Given the description of an element on the screen output the (x, y) to click on. 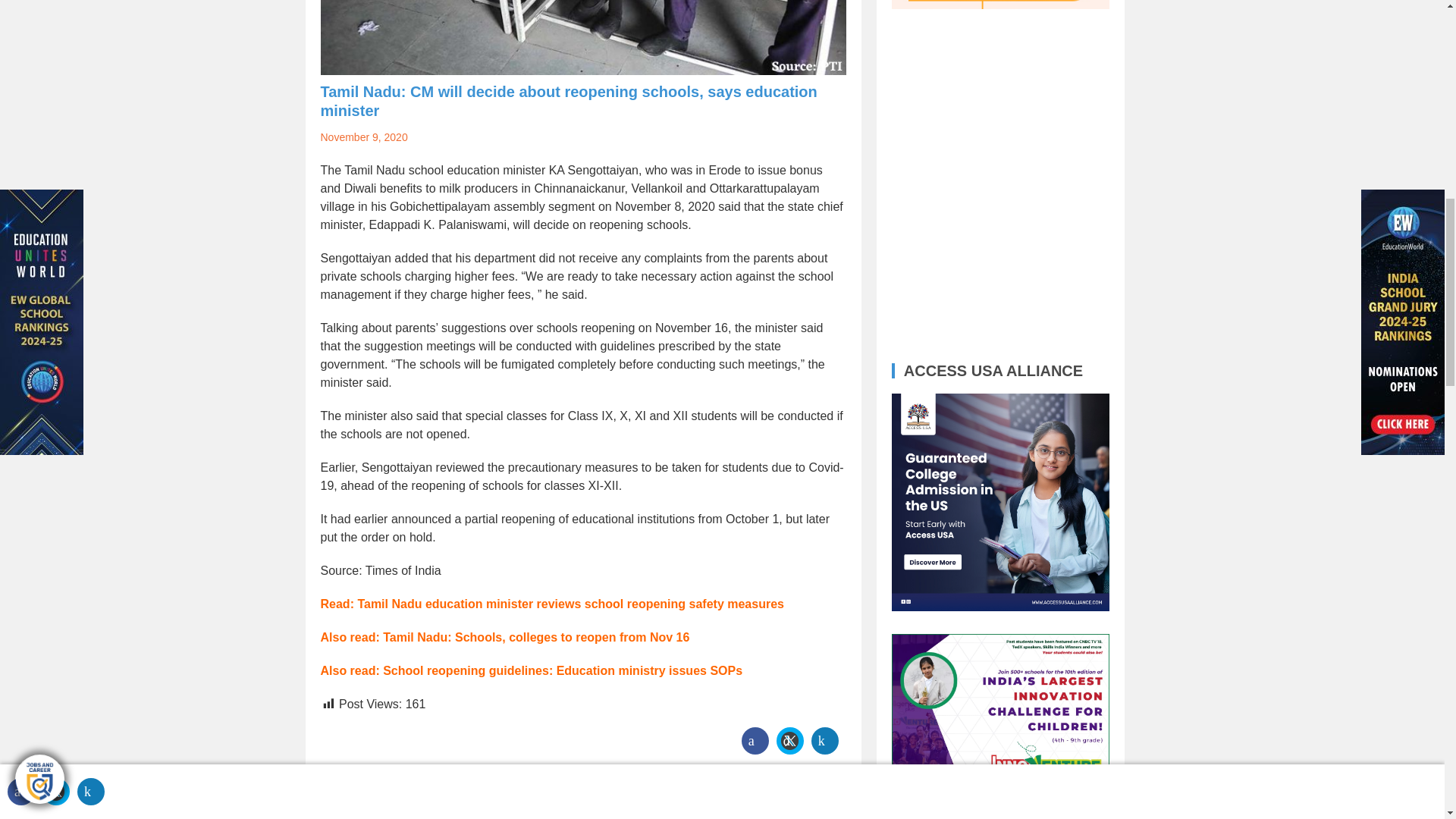
Access USA Alliance (1000, 501)
